Given the description of an element on the screen output the (x, y) to click on. 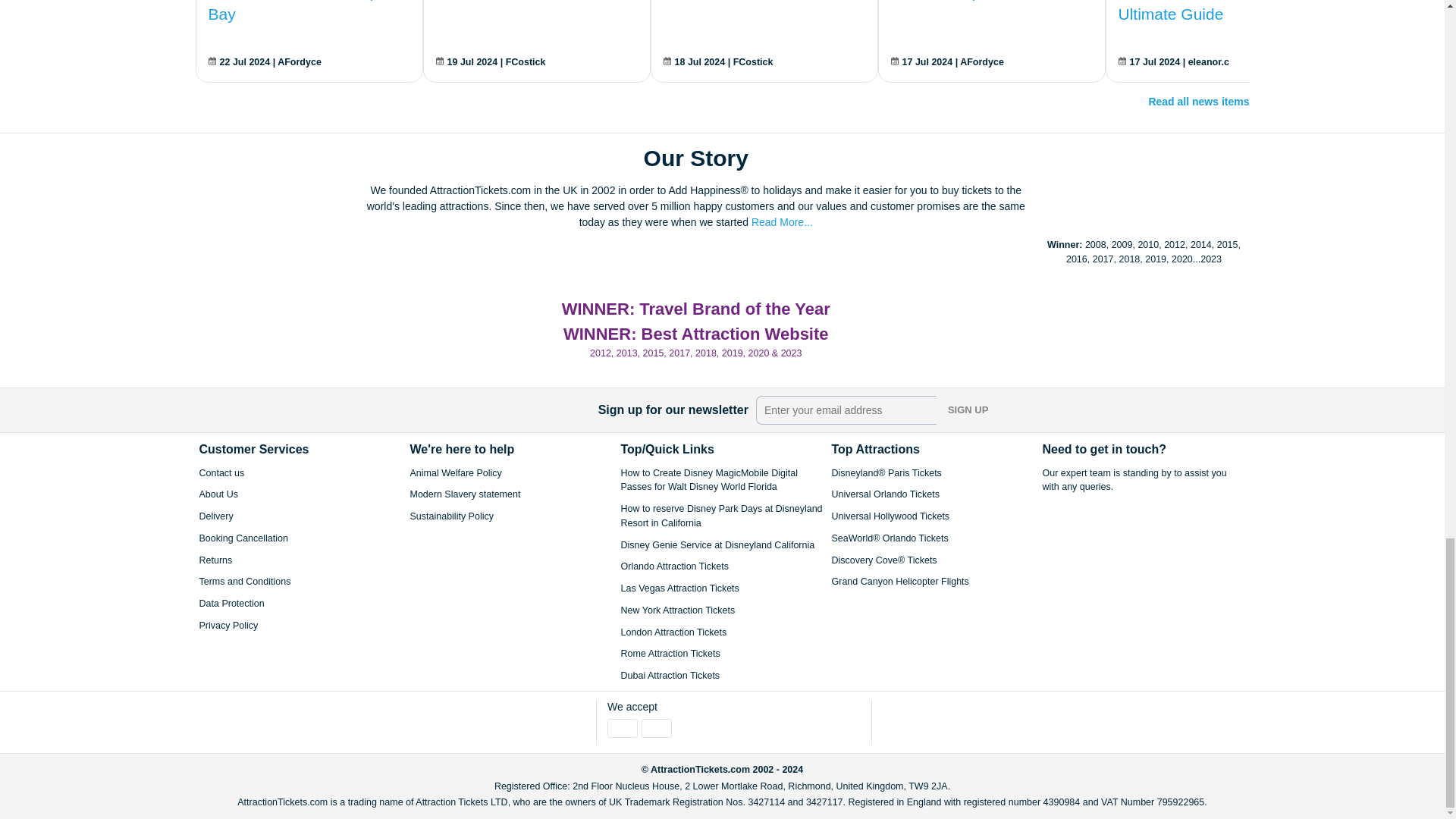
SIGN UP (967, 410)
ABTOT logo (927, 720)
